Given the description of an element on the screen output the (x, y) to click on. 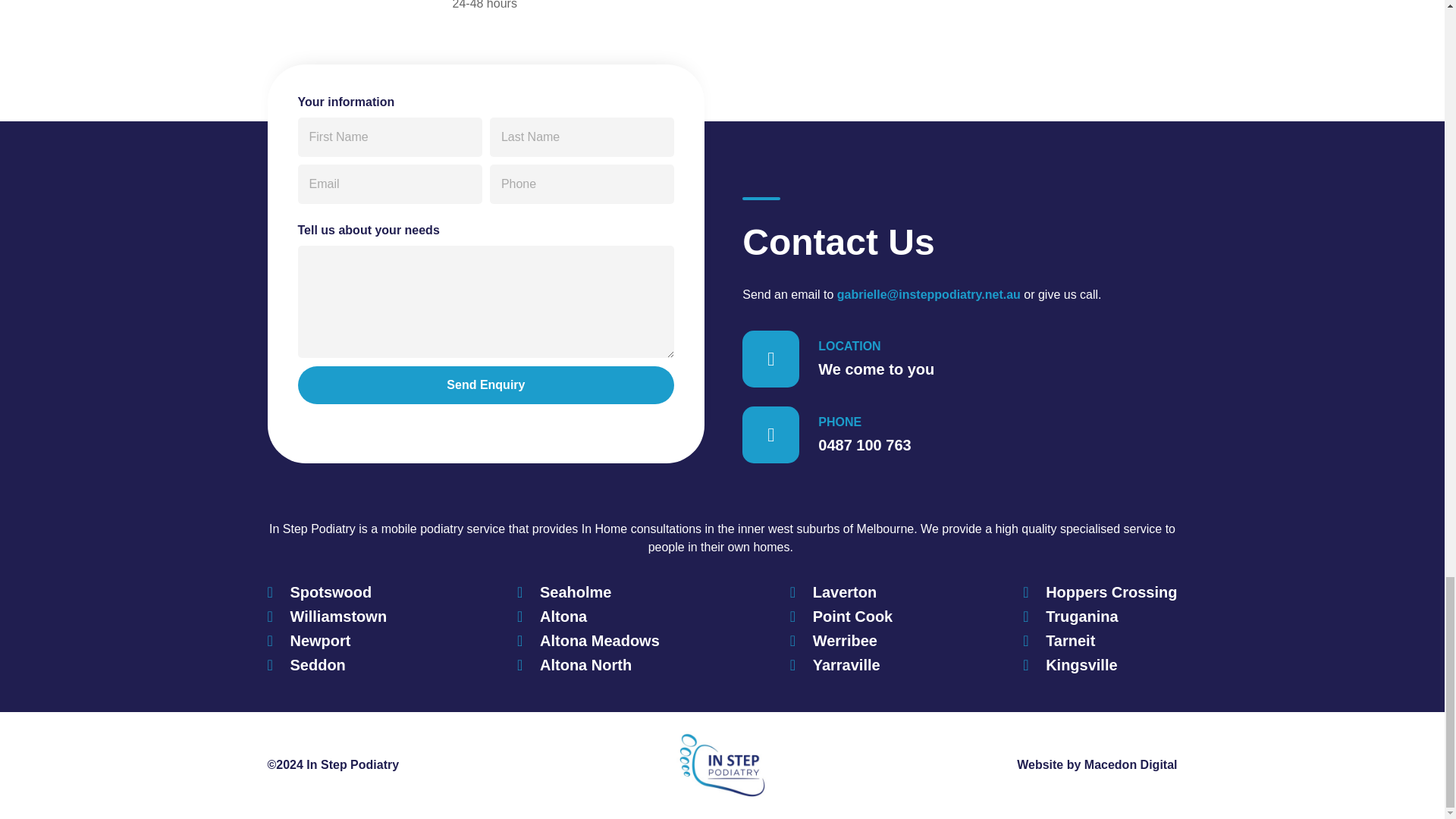
PHONE (839, 421)
Send Enquiry (485, 385)
Macedon Digital (1130, 764)
